Given the description of an element on the screen output the (x, y) to click on. 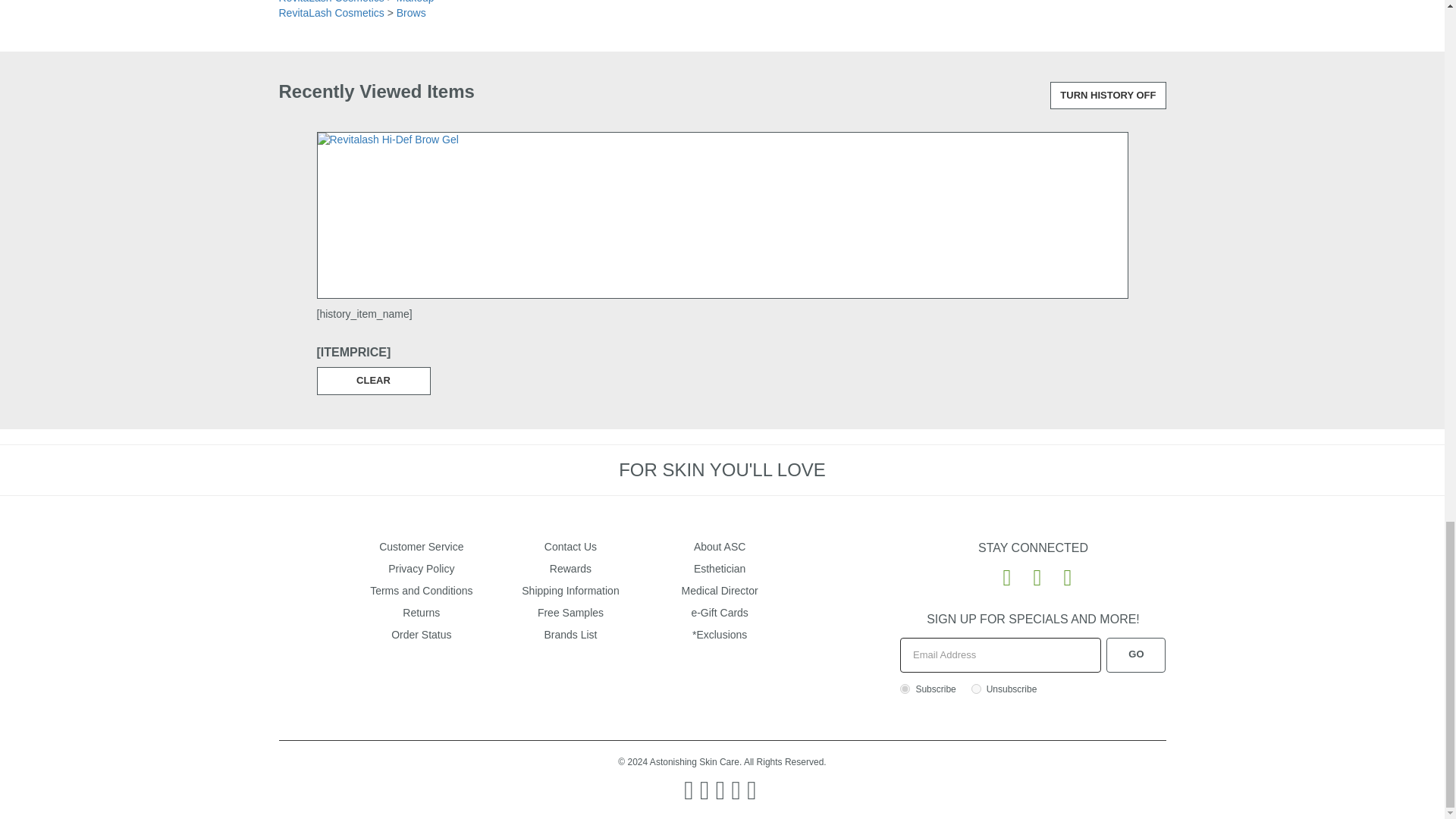
Follow Us on Instagram (1061, 576)
Like Us on Facebook (1000, 576)
1 (904, 688)
Follow Us on Twitter (1031, 576)
0 (976, 688)
